Given the description of an element on the screen output the (x, y) to click on. 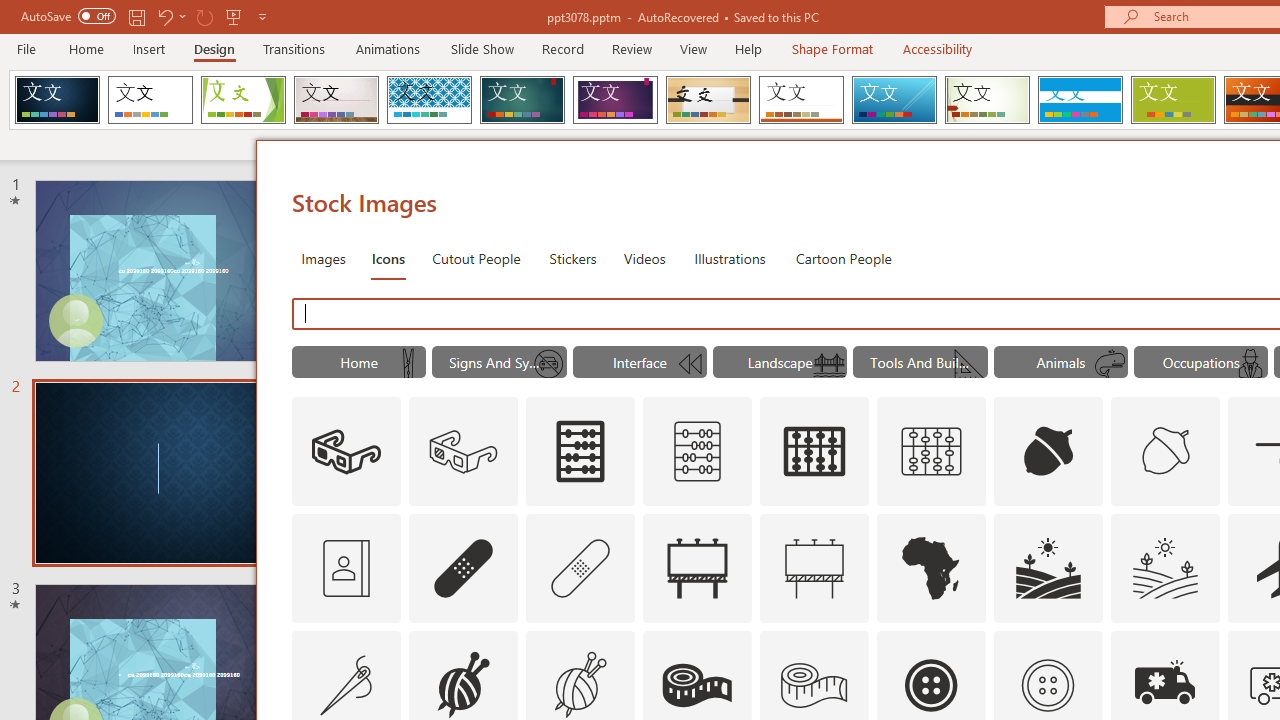
"Animals" Icons. (1060, 362)
Dividend (57, 100)
Gallery (336, 100)
Stickers (573, 258)
Videos (644, 258)
AutomationID: Icons (1047, 685)
AutomationID: Icons_Agriculture (1048, 568)
AutomationID: Icons_Abacus (580, 452)
